Given the description of an element on the screen output the (x, y) to click on. 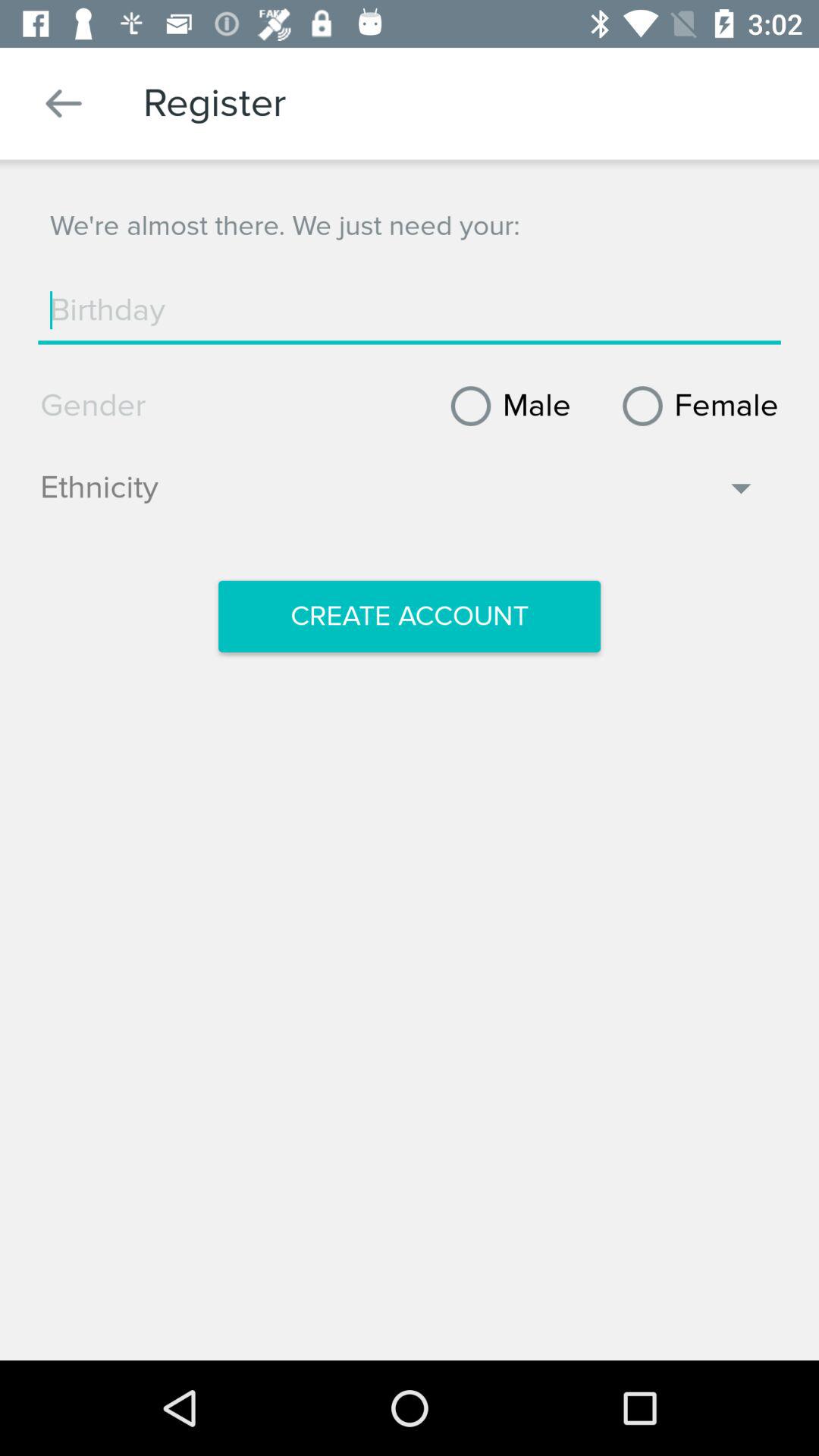
birthday input field (409, 310)
